Given the description of an element on the screen output the (x, y) to click on. 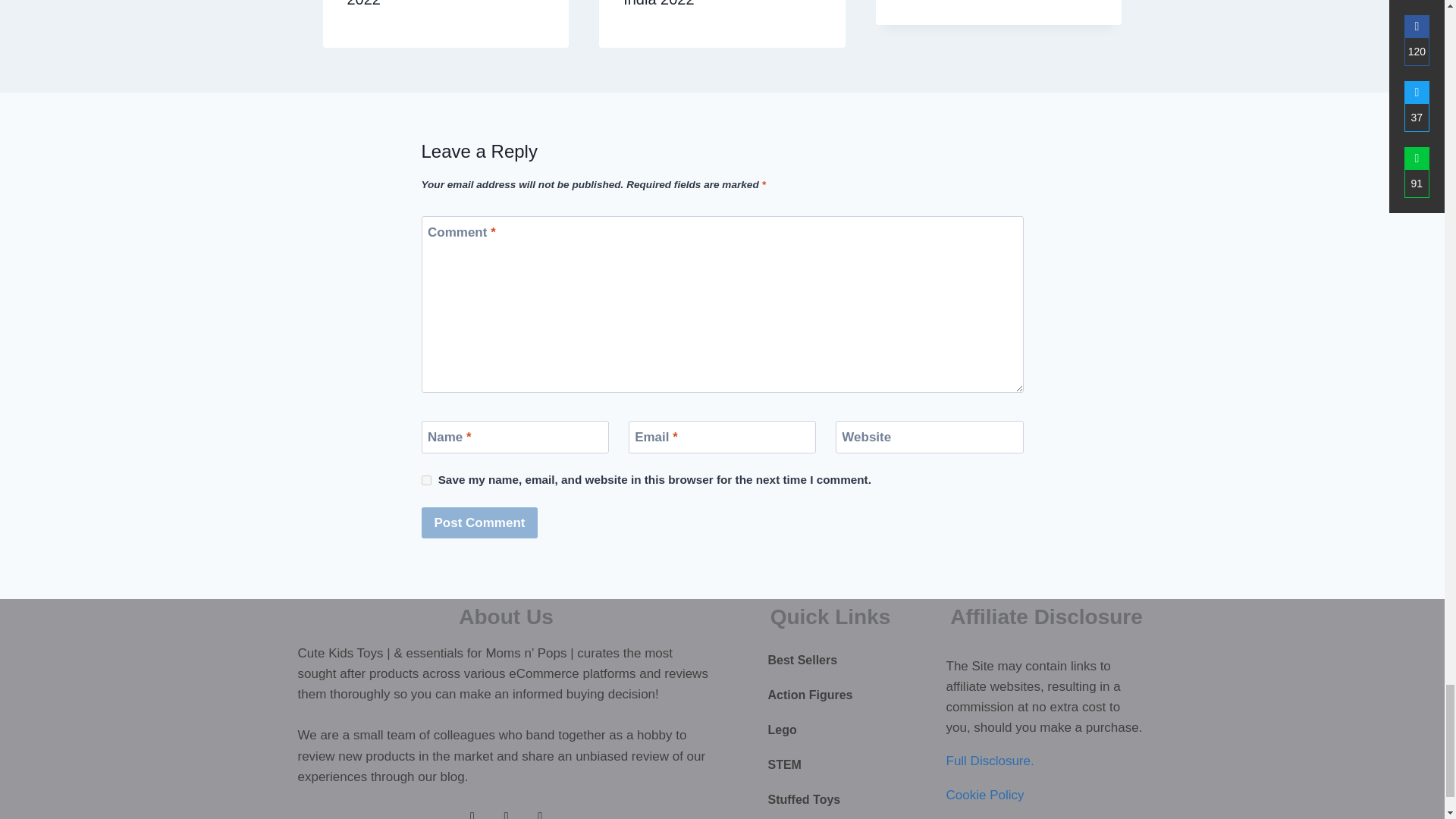
yes (426, 480)
Post Comment (480, 522)
